Given the description of an element on the screen output the (x, y) to click on. 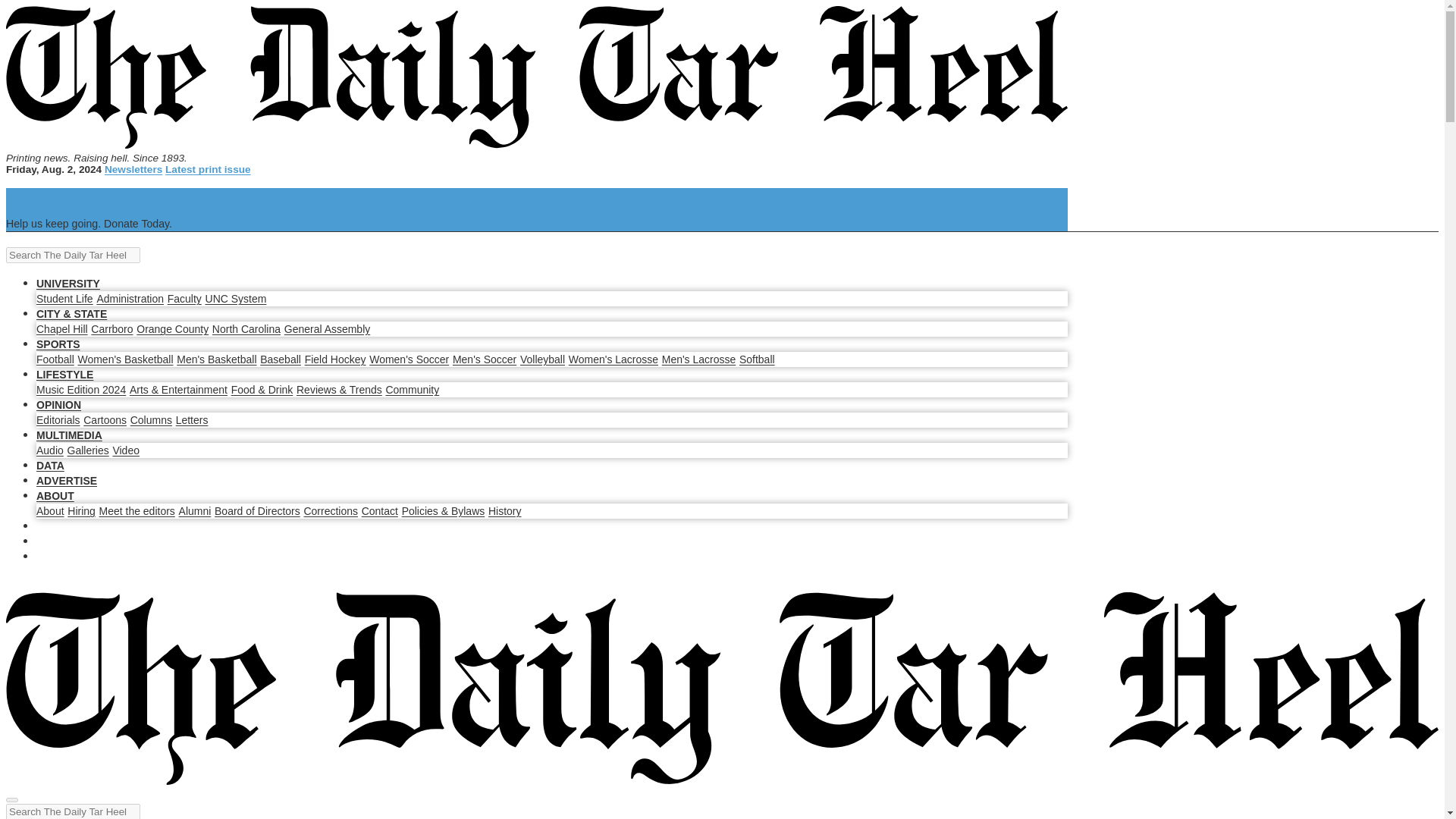
Chapel Hill (61, 328)
North Carolina (246, 328)
Baseball (280, 358)
Men's Basketball (216, 358)
Football (55, 358)
UNC System (235, 298)
Administration (129, 298)
Men's Soccer (484, 358)
Advertise (66, 480)
Music Edition 2024 (80, 389)
